Given the description of an element on the screen output the (x, y) to click on. 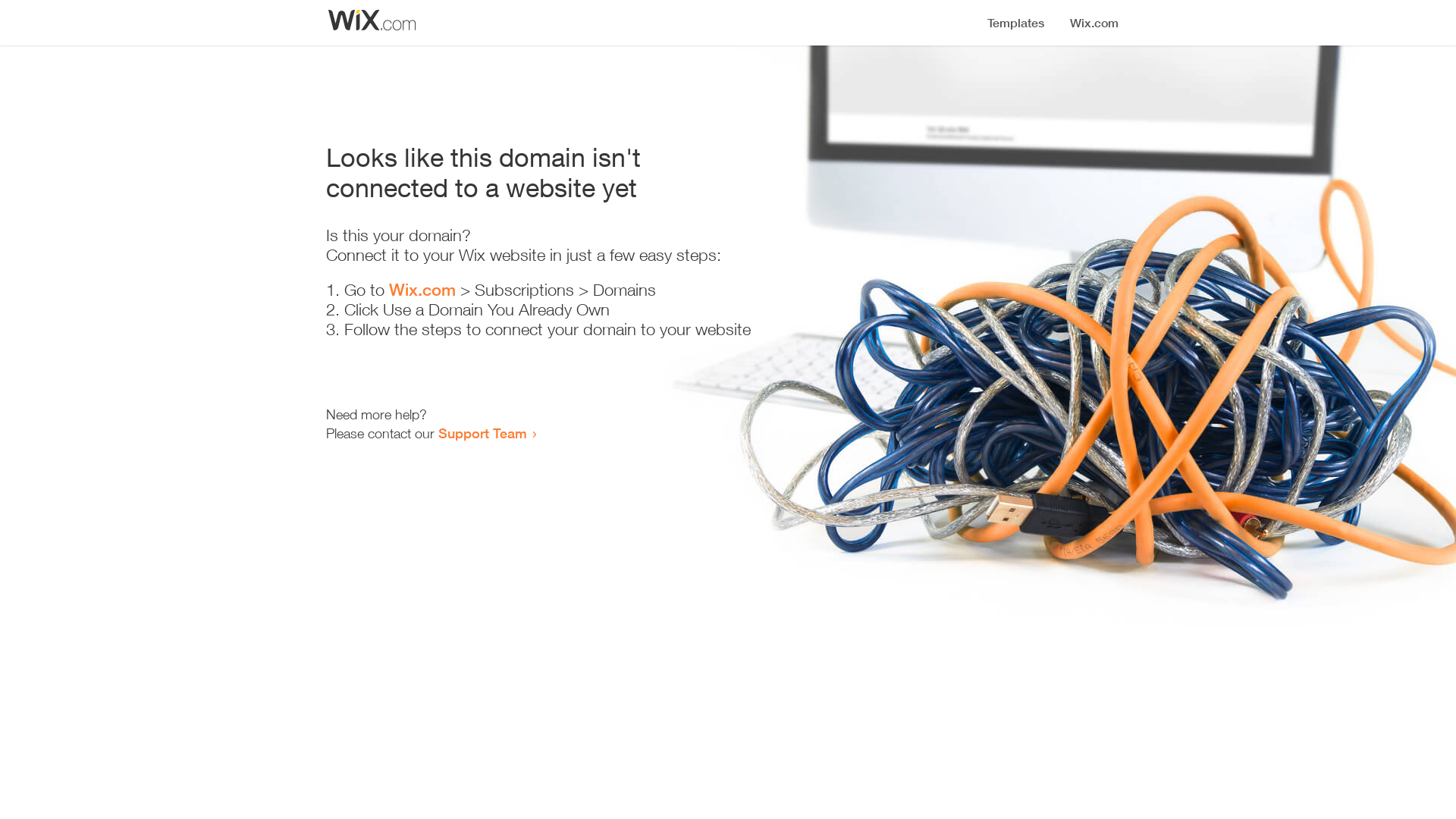
Wix.com Element type: text (422, 289)
Support Team Element type: text (482, 432)
